Given the description of an element on the screen output the (x, y) to click on. 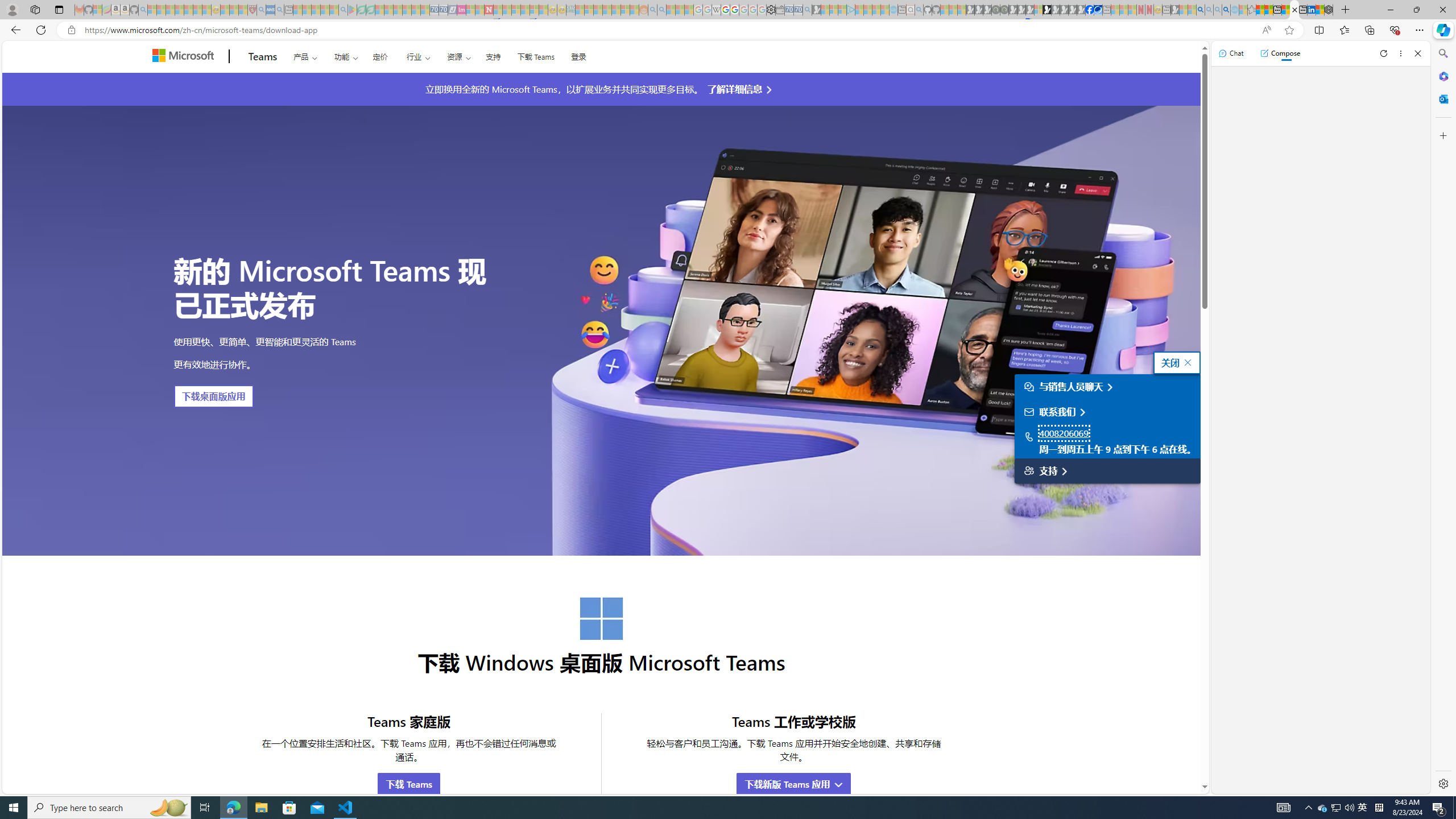
Kinda Frugal - MSN - Sleeping (616, 9)
LinkedIn (1311, 9)
Terms of Use Agreement - Sleeping (361, 9)
Utah sues federal government - Search - Sleeping (661, 9)
